Given the description of an element on the screen output the (x, y) to click on. 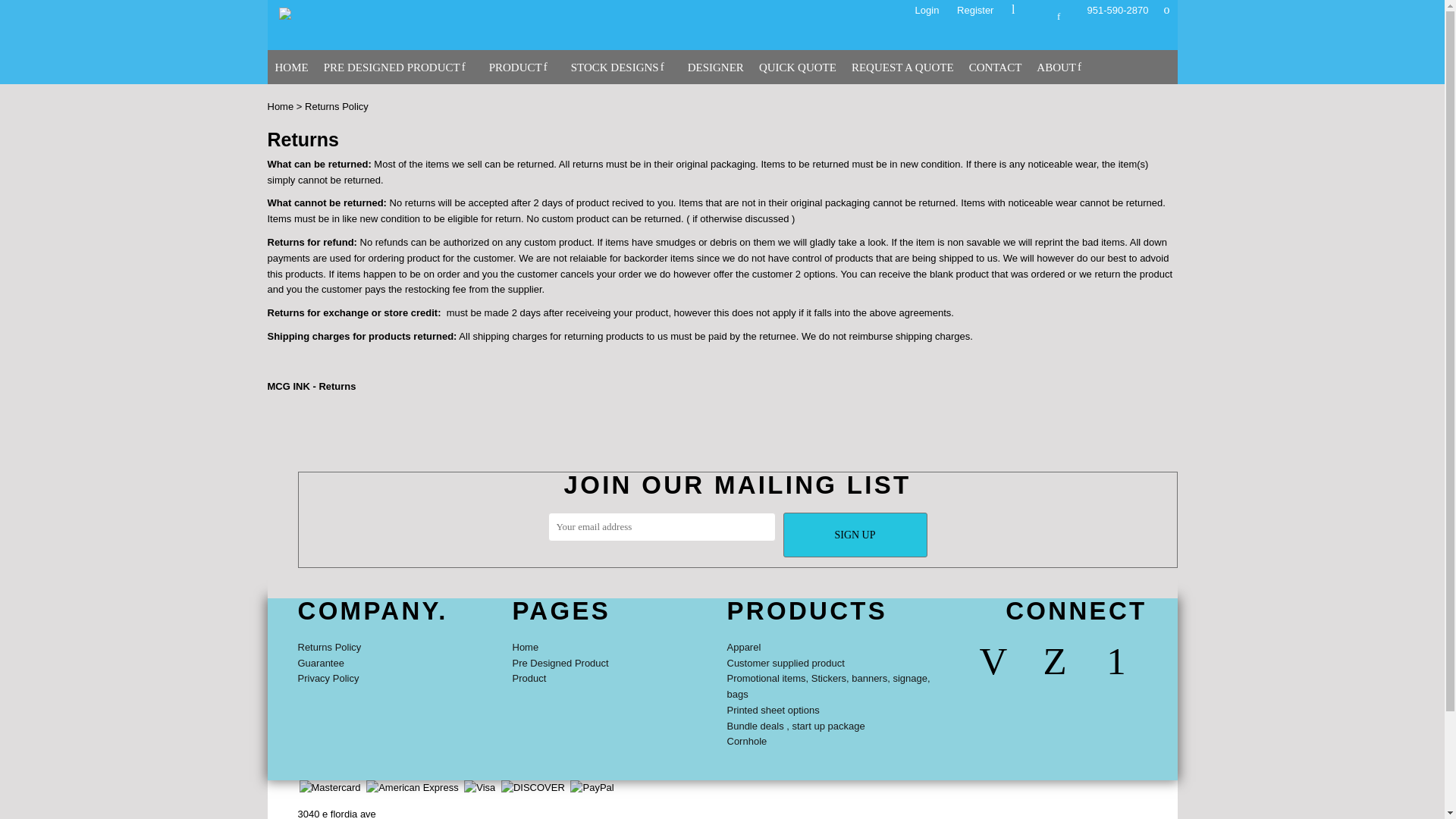
PRE DESIGNED PRODUCT (398, 66)
CONTACT (995, 66)
Register (974, 9)
Printed sheet options (772, 709)
Home (280, 106)
PRODUCT (522, 66)
QUICK QUOTE (796, 66)
Privacy Policy (327, 677)
as (11, 7)
Cornhole (746, 740)
Bundle deals , start up package (795, 726)
Home (525, 646)
Product (529, 677)
Apparel (743, 646)
Guarantee (320, 662)
